Given the description of an element on the screen output the (x, y) to click on. 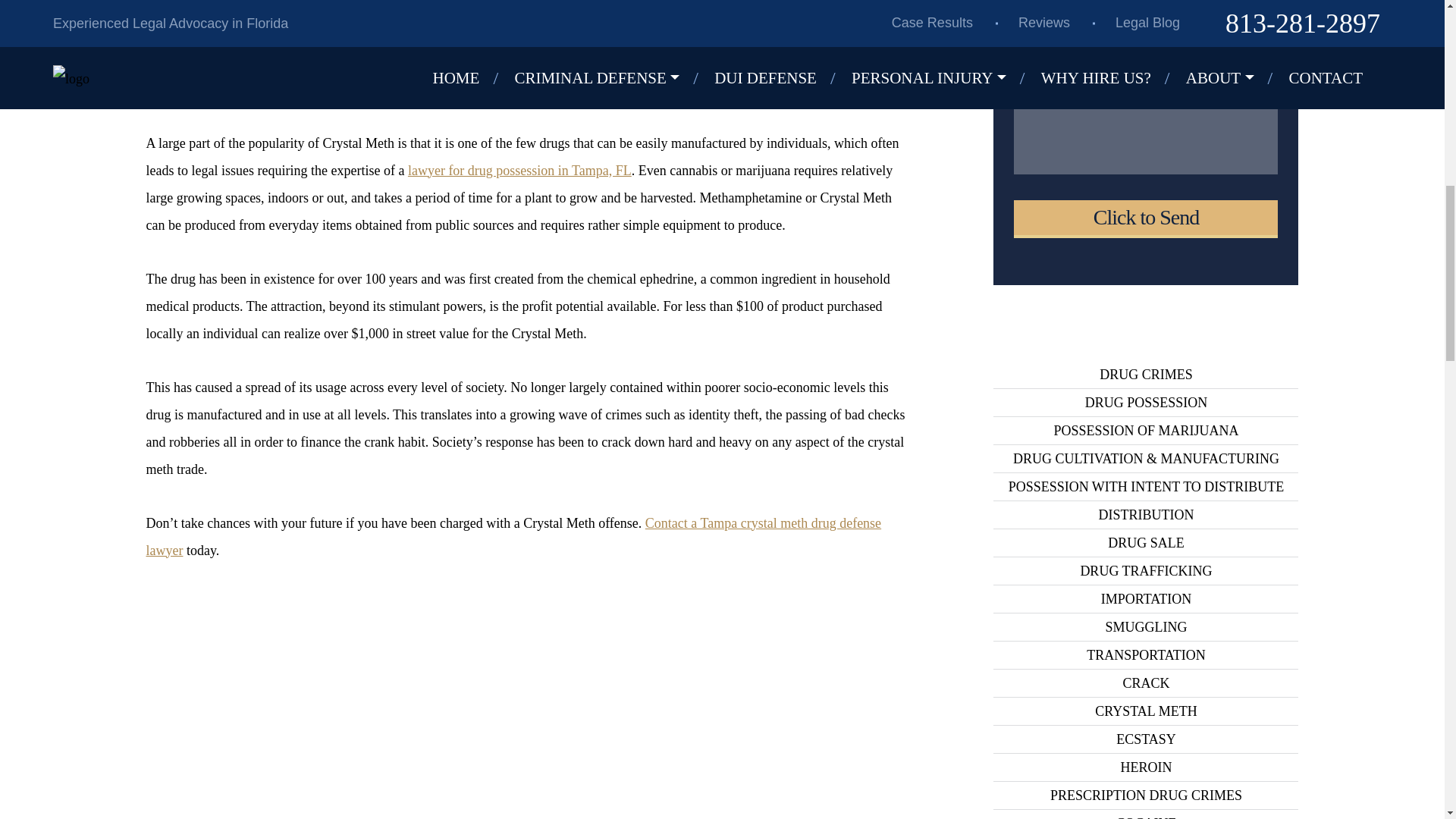
Tampa drug crime attorney (398, 29)
Click to Send (1145, 218)
lawyer for drug possession in Tampa, FL (519, 170)
